Given the description of an element on the screen output the (x, y) to click on. 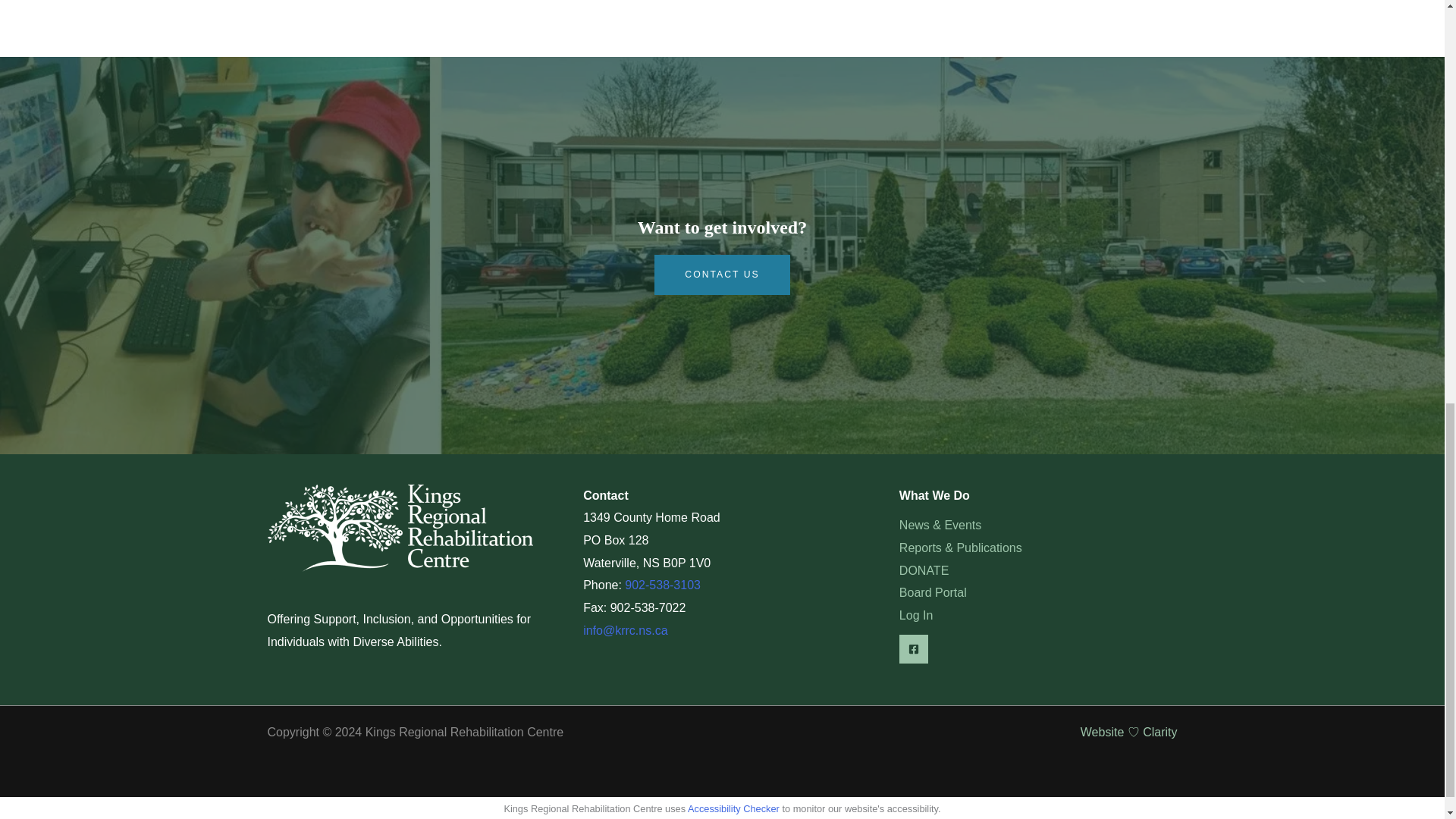
CONTACT US (721, 274)
Board Portal (932, 592)
DONATE (924, 570)
902-538-3103 (662, 584)
Log In (916, 615)
